Given the description of an element on the screen output the (x, y) to click on. 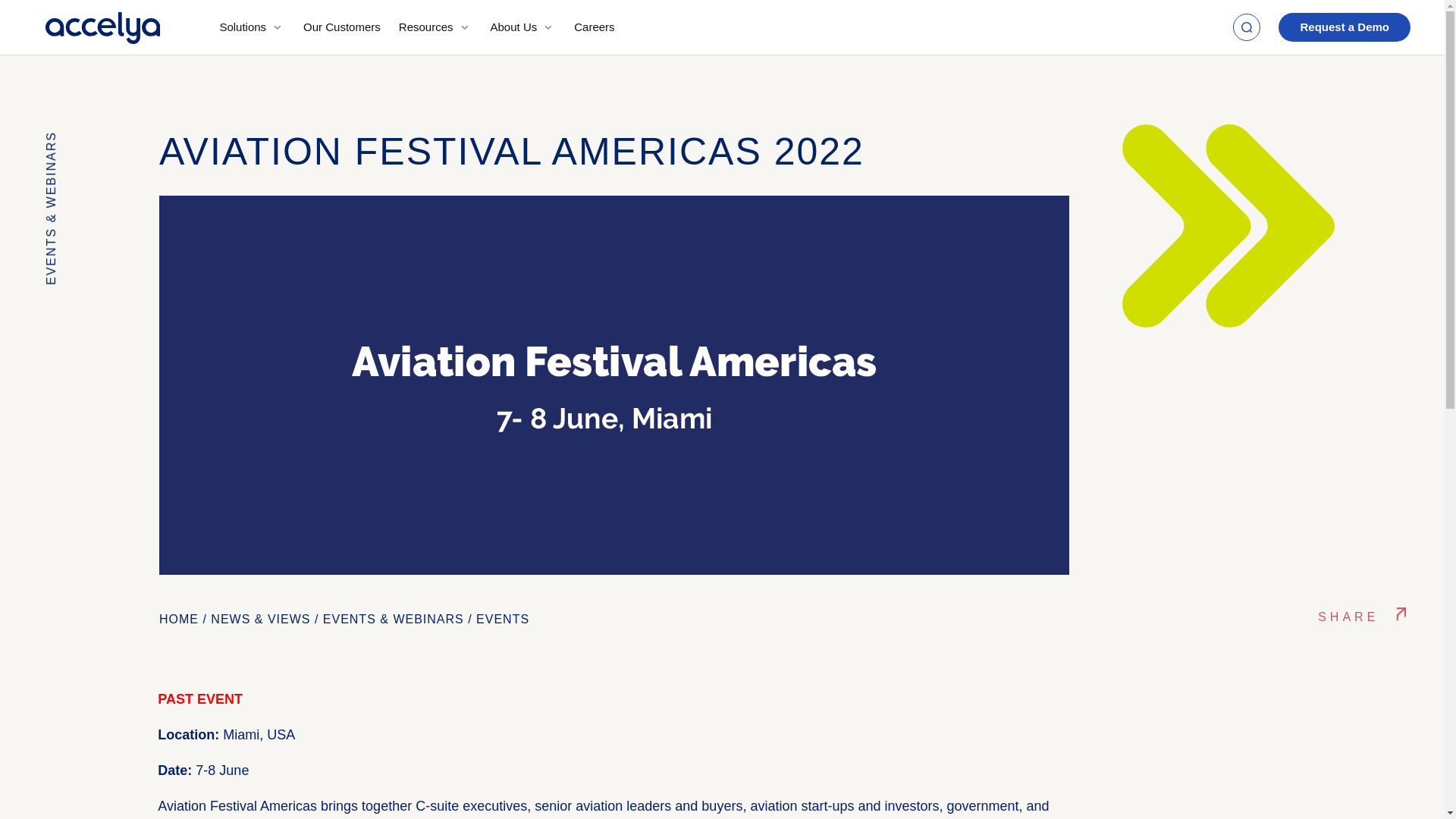
Resources (434, 27)
About Us (523, 27)
Solutions (252, 27)
Our Customers (341, 26)
